Given the description of an element on the screen output the (x, y) to click on. 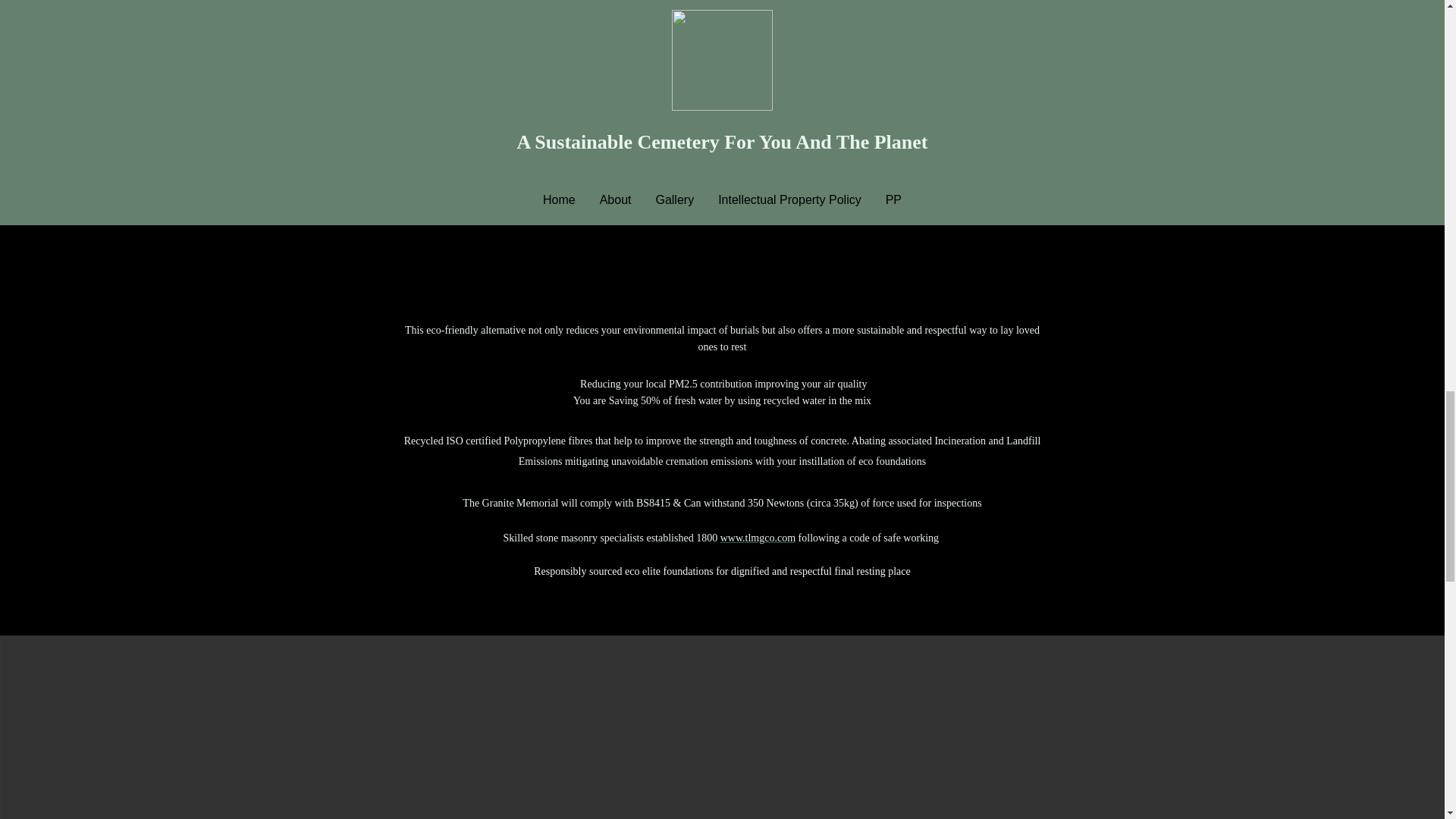
www.tlmgco.com (757, 537)
